Given the description of an element on the screen output the (x, y) to click on. 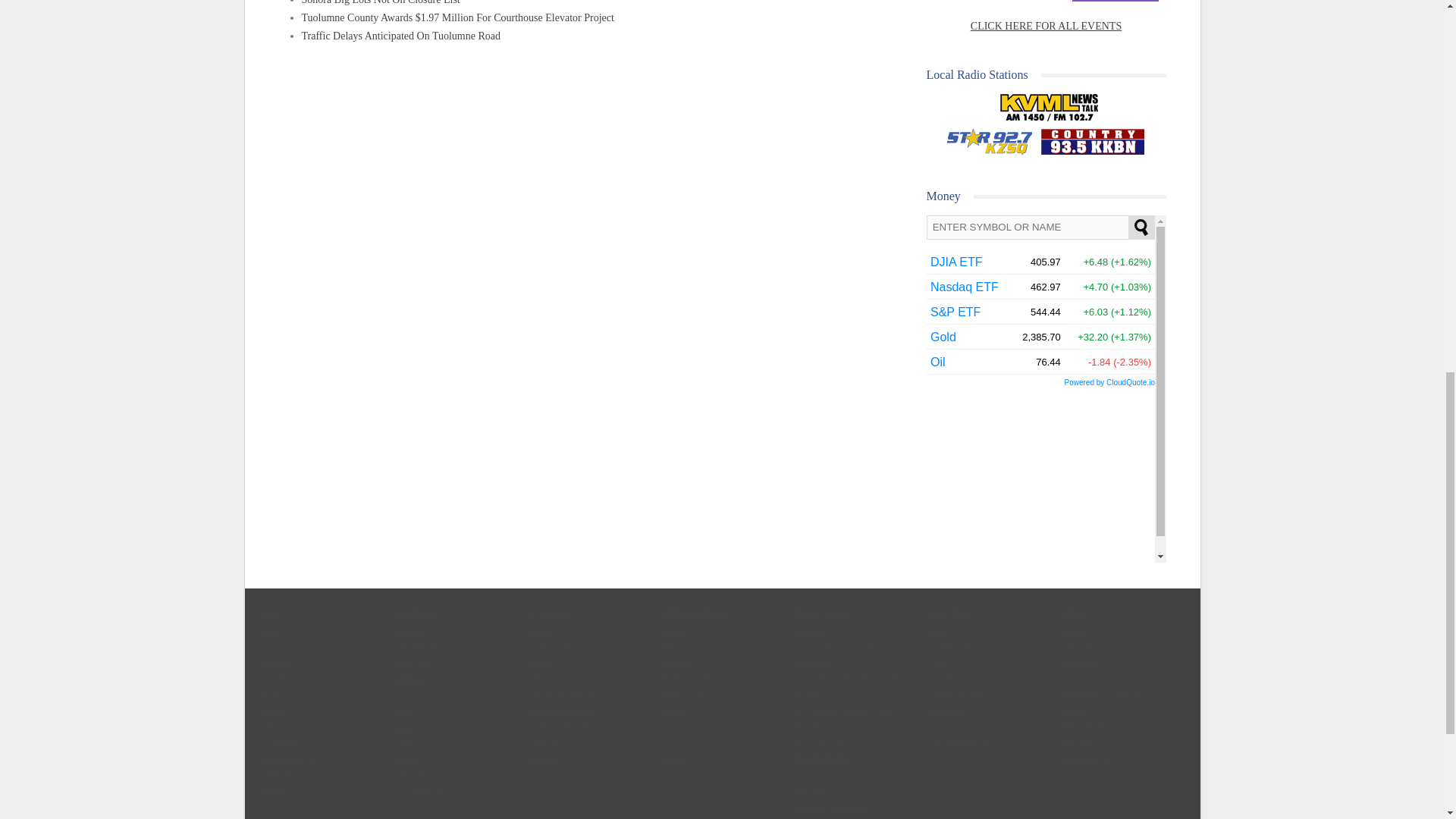
Add An Event (1114, 1)
